Given the description of an element on the screen output the (x, y) to click on. 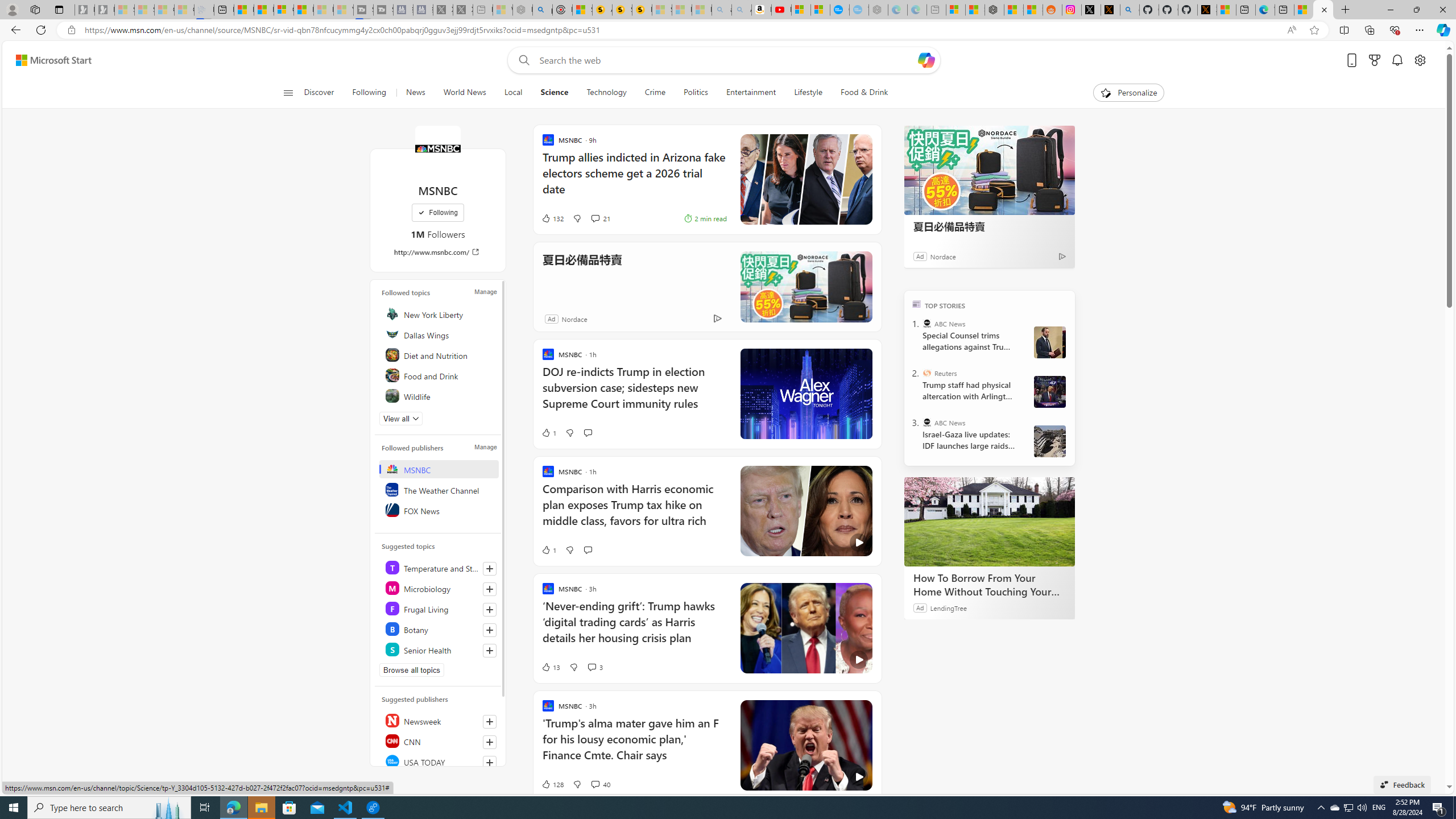
Skip to content (49, 59)
Politics (695, 92)
MSNBC (437, 148)
ABC News (927, 422)
